Given the description of an element on the screen output the (x, y) to click on. 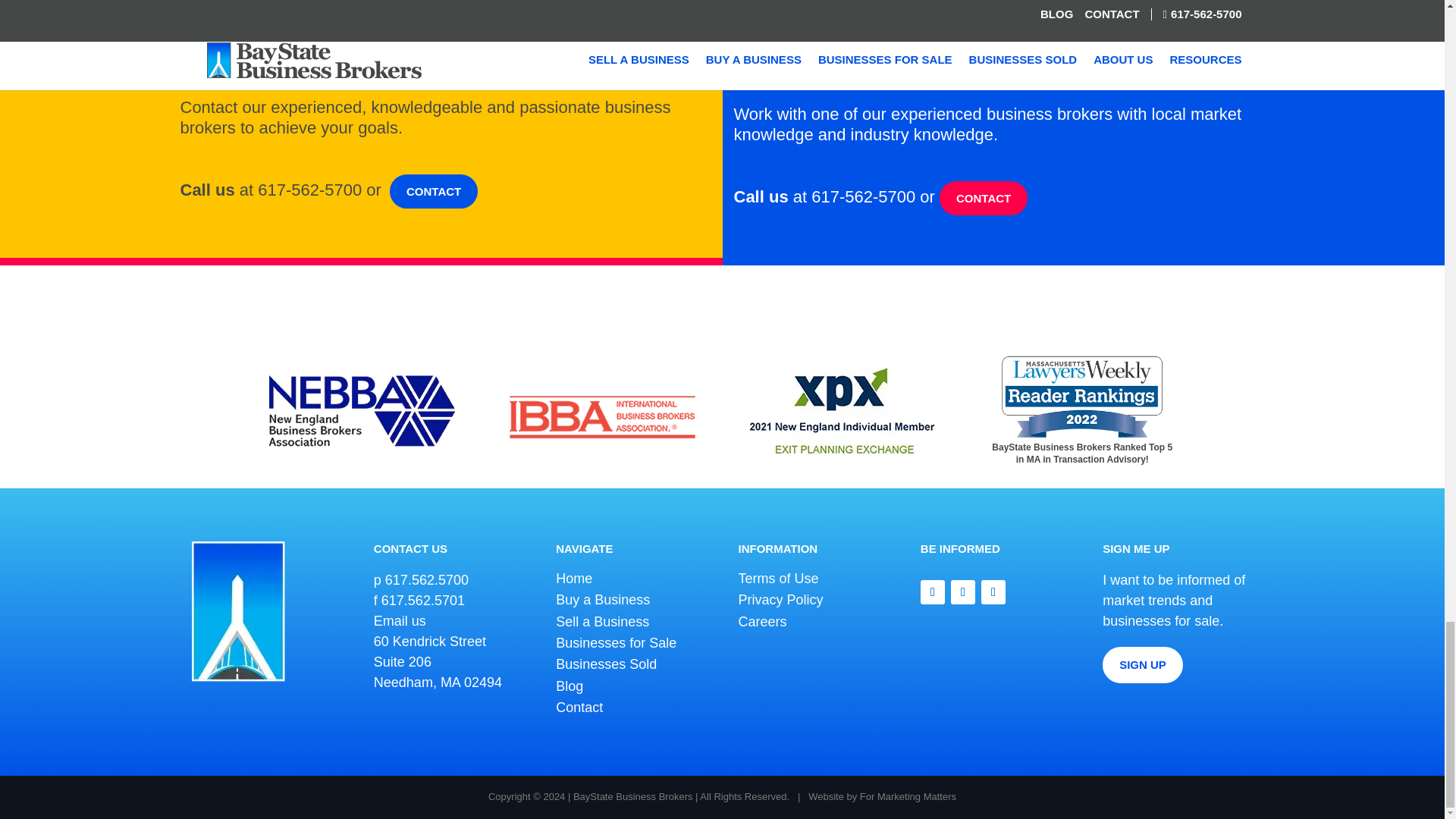
Follow on X (962, 591)
Follow on Facebook (993, 591)
Follow on LinkedIn (932, 591)
